Given the description of an element on the screen output the (x, y) to click on. 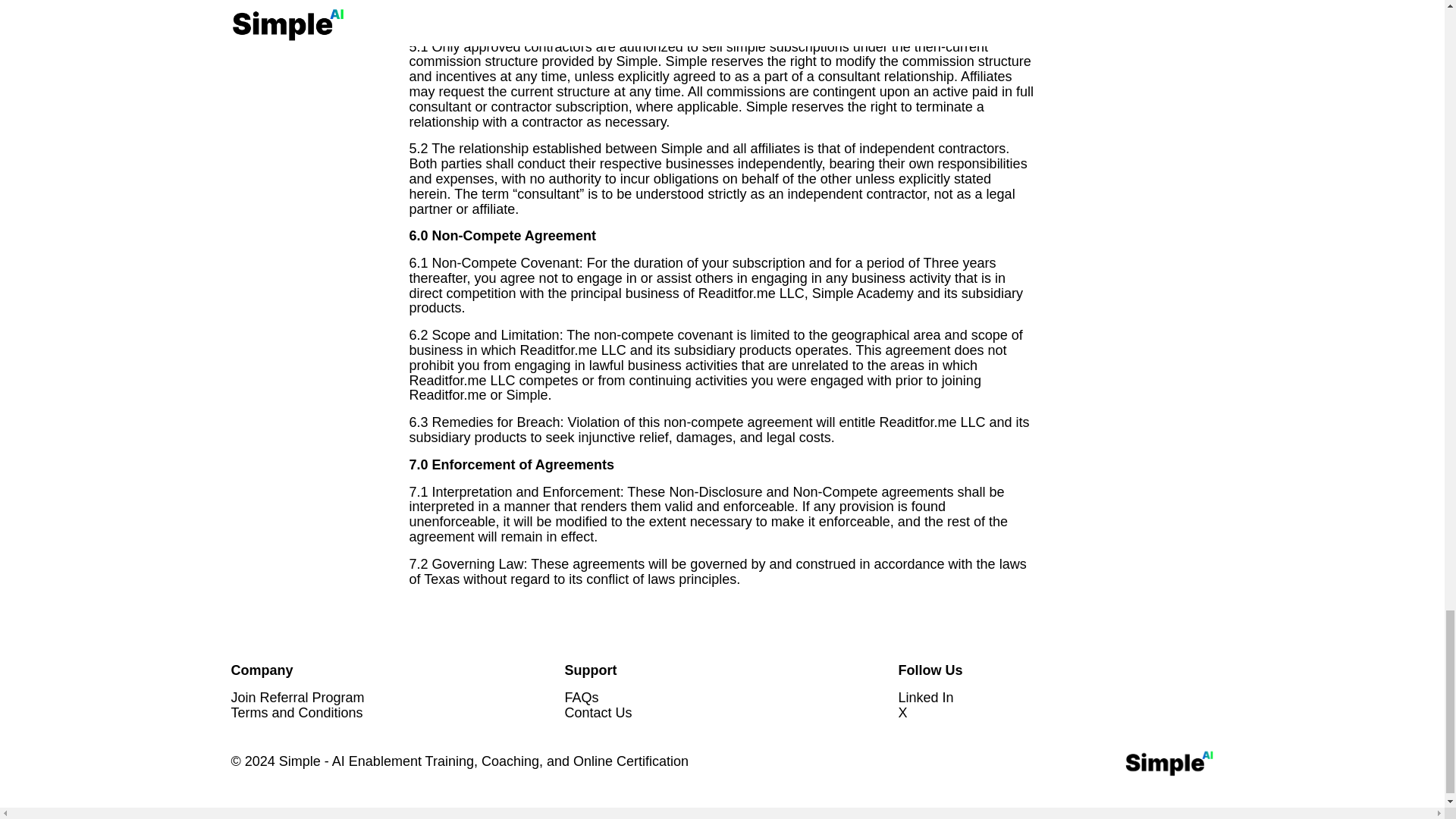
Terms and Conditions (296, 712)
Linked In (925, 697)
Contact Us (597, 712)
Join Referral Program (297, 697)
FAQs (581, 697)
